Given the description of an element on the screen output the (x, y) to click on. 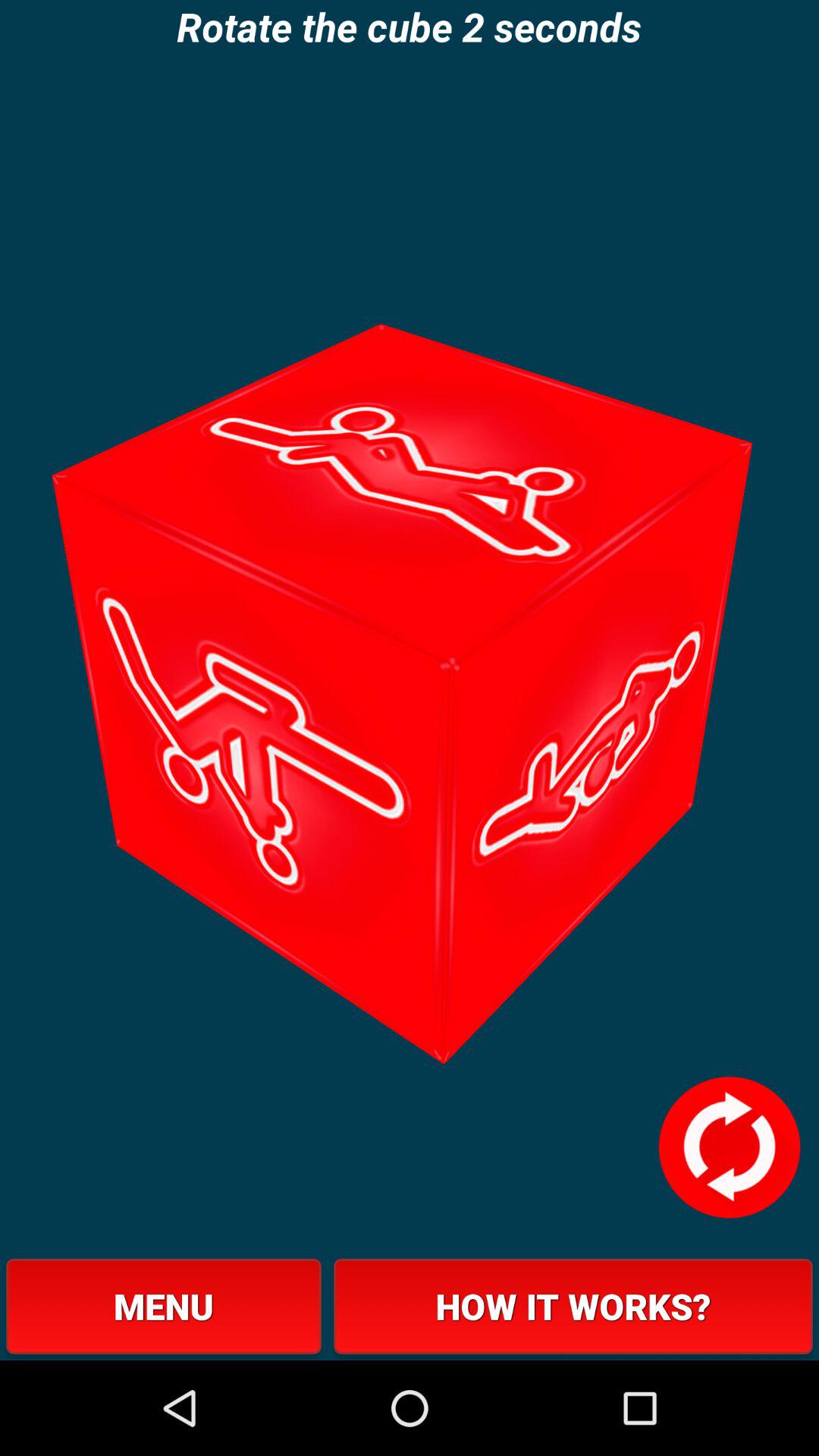
rotate (728, 1147)
